Given the description of an element on the screen output the (x, y) to click on. 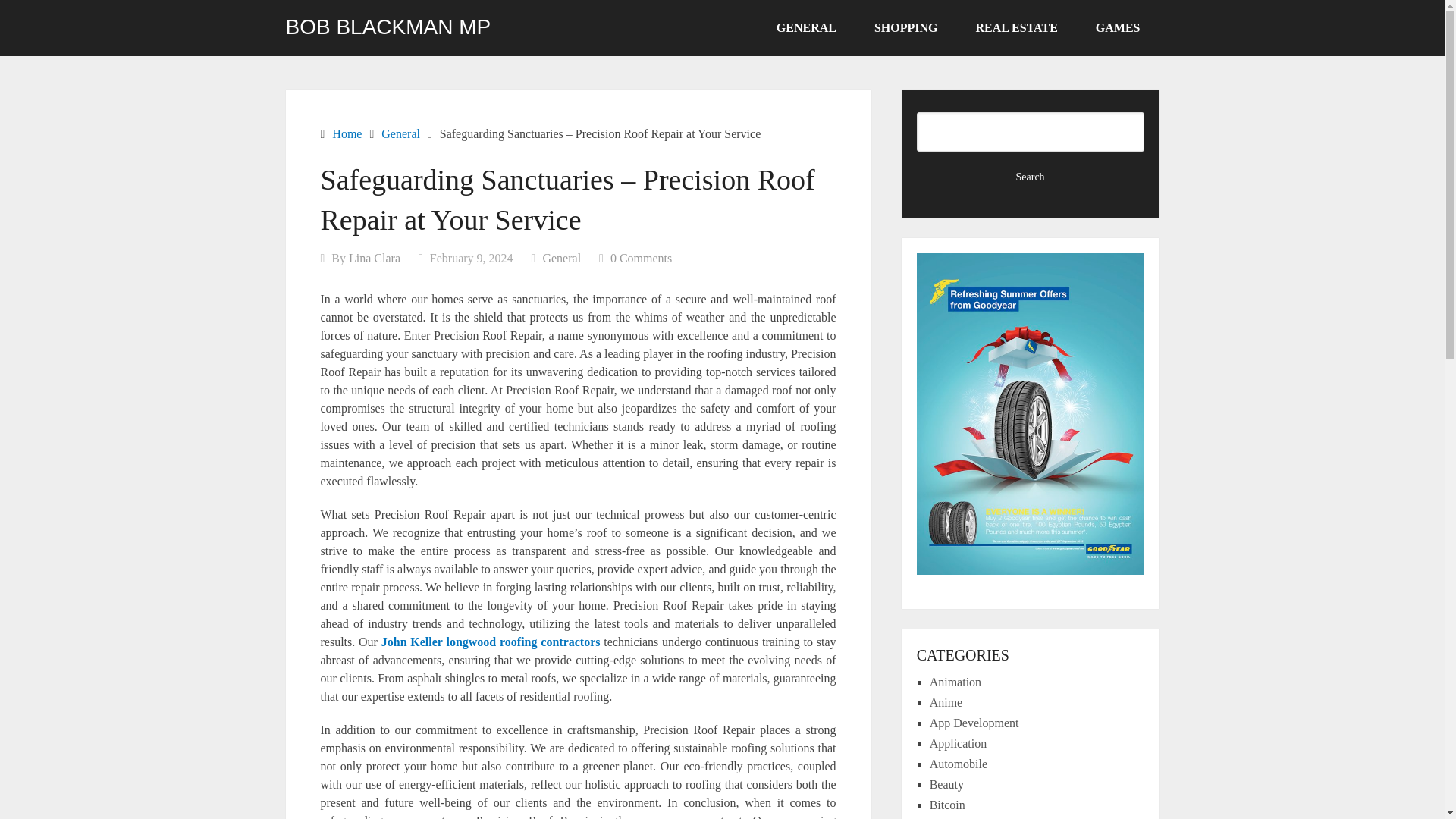
Search (1030, 176)
General (560, 257)
GAMES (1117, 28)
Lina Clara (374, 257)
App Development (974, 722)
Animation (955, 681)
Application (958, 743)
Anime (946, 702)
Beauty (946, 784)
SHOPPING (906, 28)
Posts by Lina Clara (374, 257)
GENERAL (806, 28)
John Keller longwood roofing contractors (490, 641)
Bitcoin (947, 804)
REAL ESTATE (1015, 28)
